Given the description of an element on the screen output the (x, y) to click on. 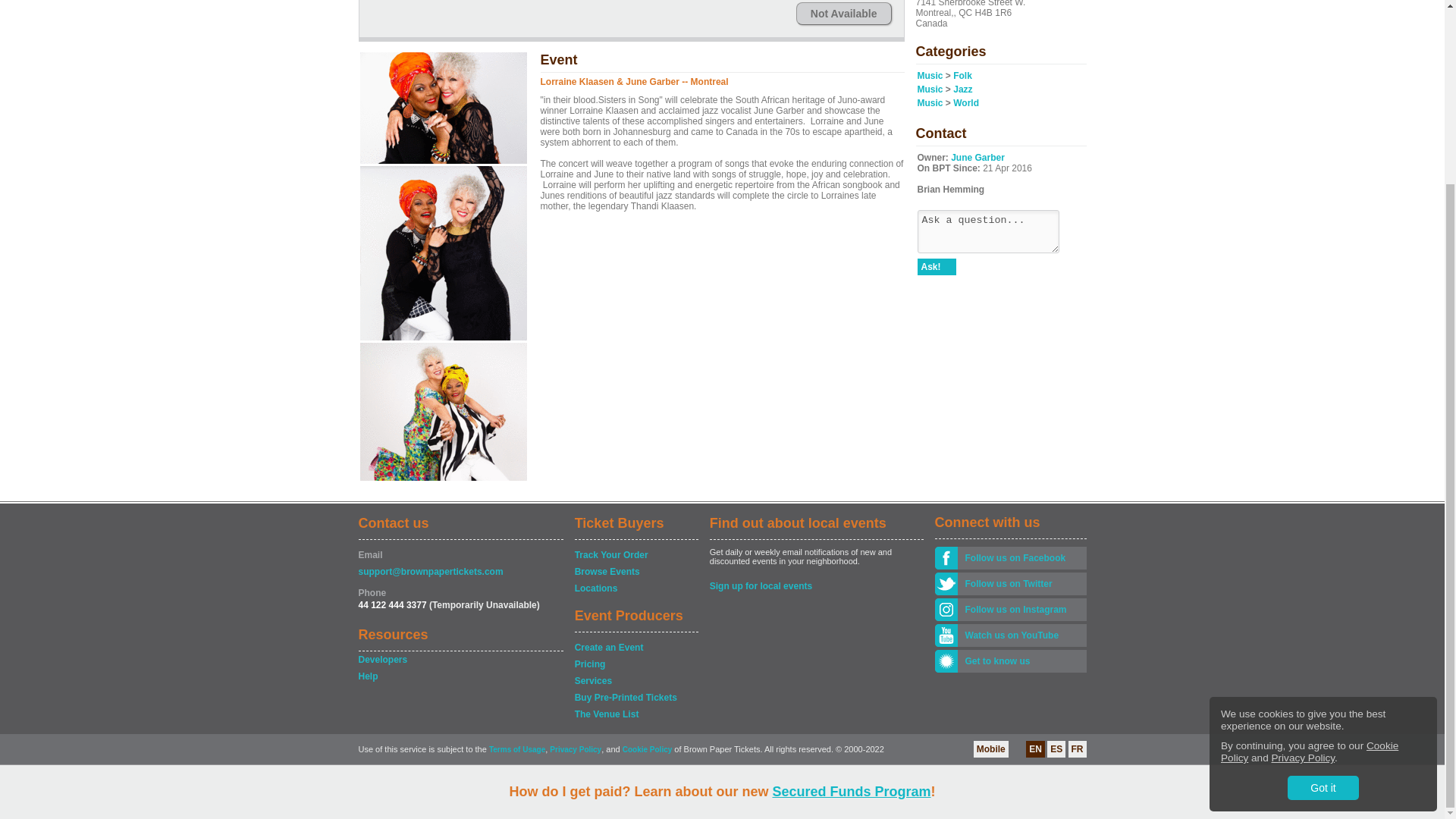
Browse Events (636, 571)
Got it (1322, 560)
Not Available (843, 13)
Create an Event (636, 647)
Help (460, 676)
Services (636, 680)
The Venue List (636, 713)
Folk (962, 75)
Music (930, 89)
World (965, 102)
